Given the description of an element on the screen output the (x, y) to click on. 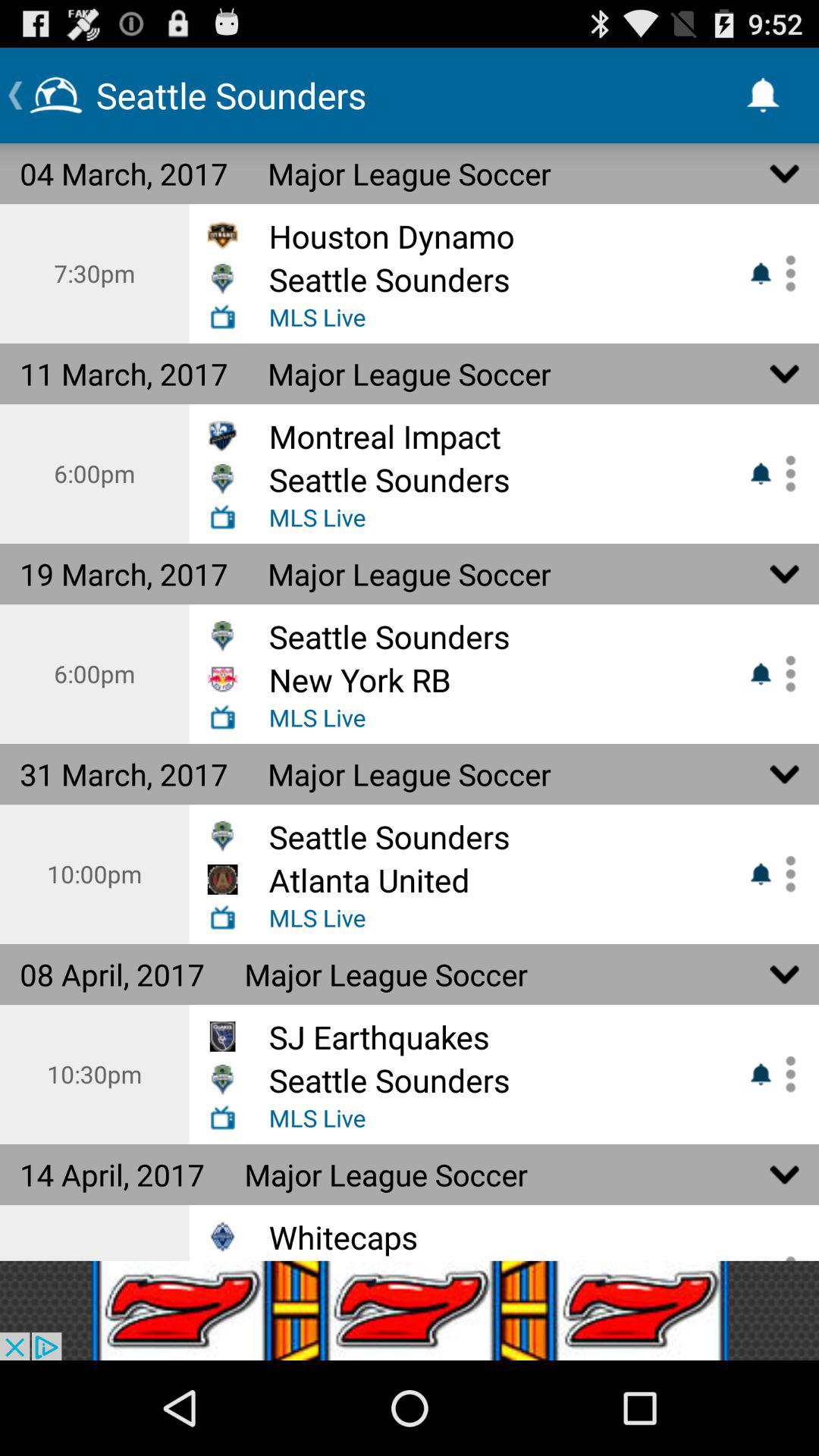
set alert (785, 473)
